Given the description of an element on the screen output the (x, y) to click on. 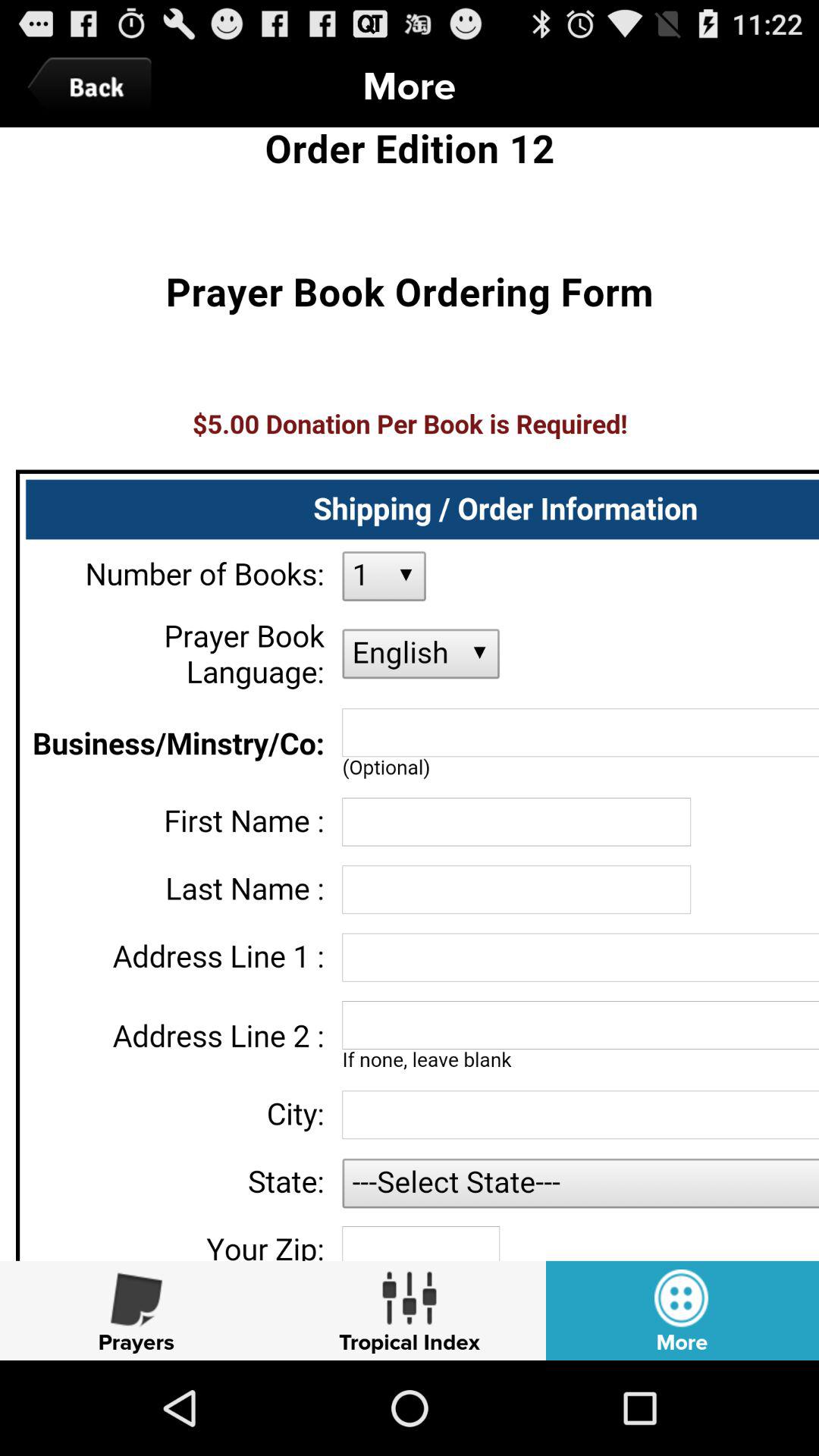
go back (93, 87)
